Given the description of an element on the screen output the (x, y) to click on. 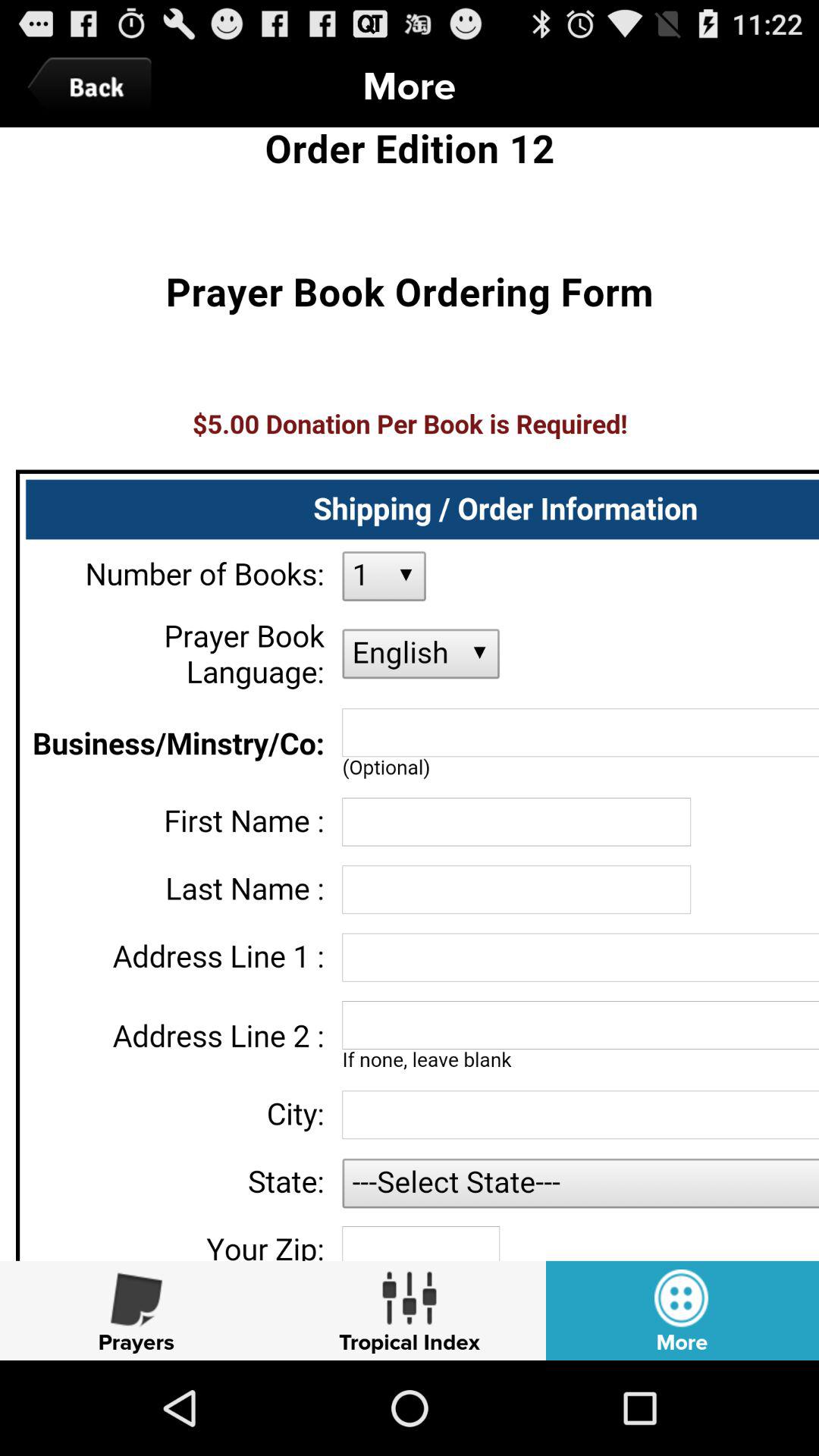
go back (93, 87)
